Given the description of an element on the screen output the (x, y) to click on. 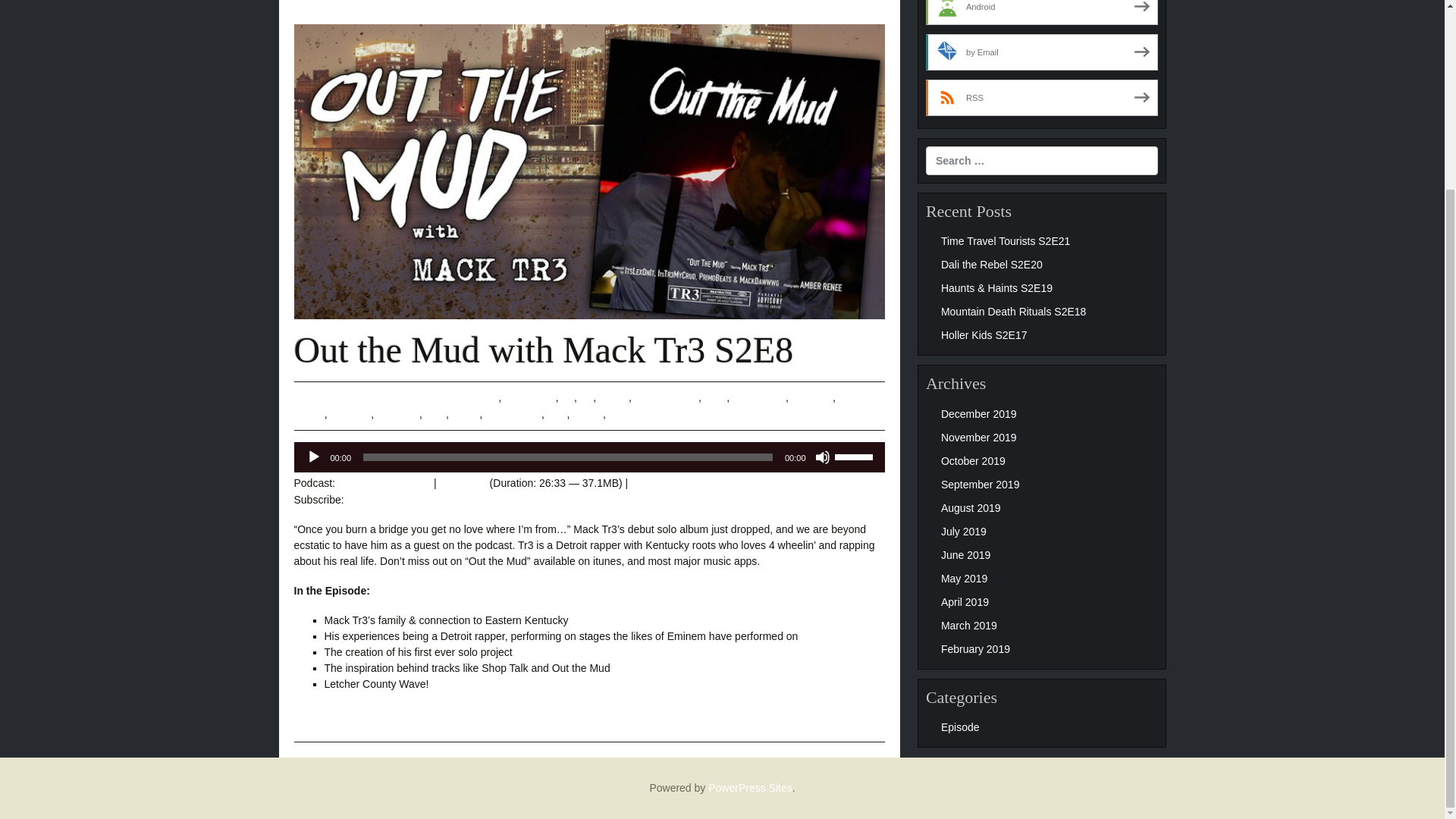
Subscribe by Email (1041, 52)
Subscribe via RSS (1041, 97)
Embed (646, 482)
indie (715, 397)
Play (313, 457)
Dali the Rebel S2E20 (991, 264)
weirdappalachia (748, 413)
kentucky (812, 397)
Download (462, 482)
Subscribe via RSS (358, 499)
RSS (358, 499)
music (465, 413)
Episode (412, 397)
Permalink to Out the Mud with Mack Tr3 S2E8 (332, 397)
indie music (759, 397)
